Given the description of an element on the screen output the (x, y) to click on. 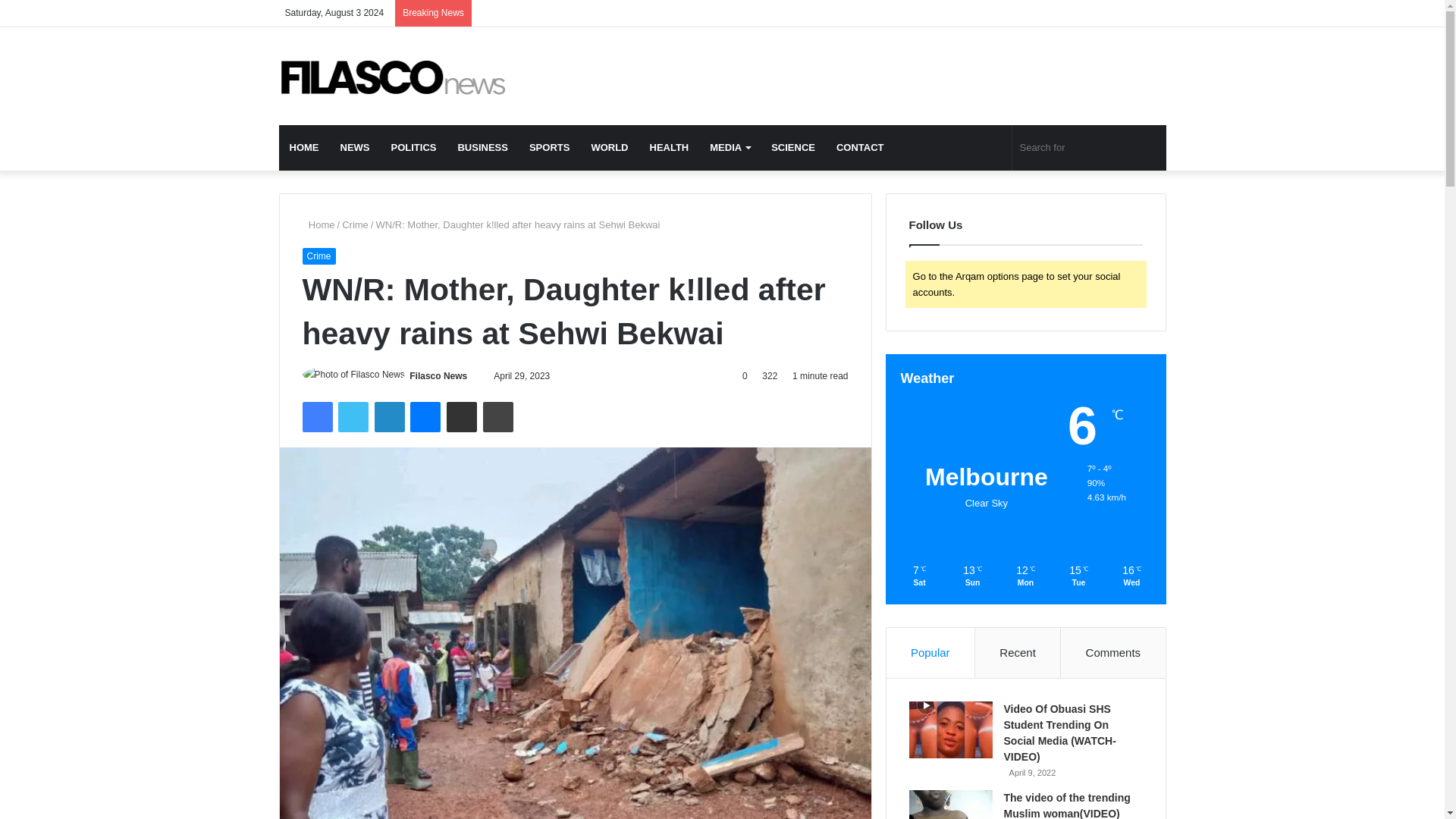
Facebook (316, 417)
Filasco News (392, 76)
Twitter (1040, 13)
Random Article (1131, 13)
Filasco News (438, 376)
POLITICS (413, 147)
SCIENCE (792, 147)
Search for (1088, 147)
Messenger (425, 417)
NEWS (354, 147)
Crime (355, 224)
Random Article (992, 147)
WORLD (609, 147)
YouTube (1063, 13)
HOME (304, 147)
